Given the description of an element on the screen output the (x, y) to click on. 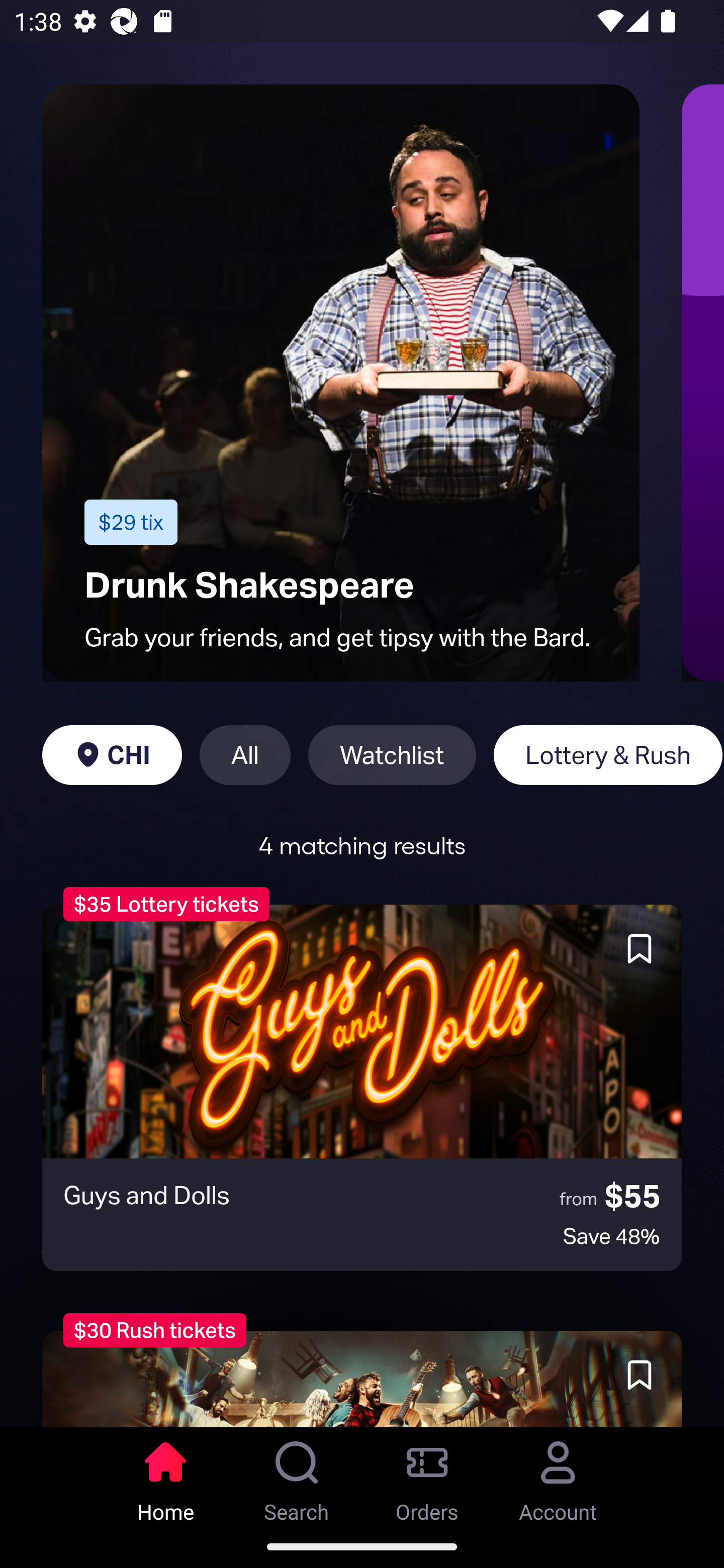
CHI (111, 754)
All (244, 754)
Watchlist (392, 754)
Lottery & Rush (607, 754)
Guys and Dolls from $55 Save 48% (361, 1087)
Search (296, 1475)
Orders (427, 1475)
Account (558, 1475)
